Given the description of an element on the screen output the (x, y) to click on. 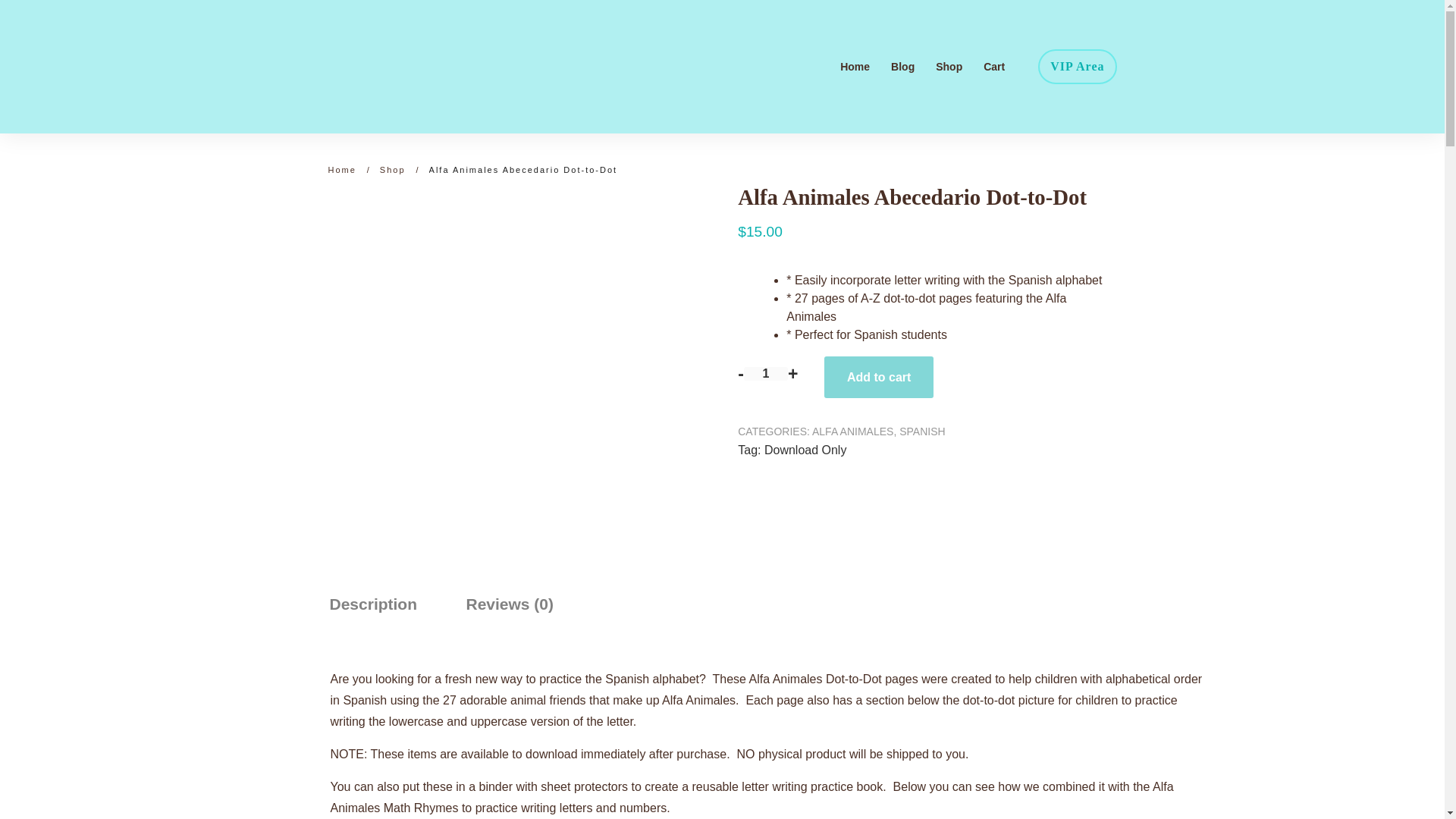
Home (341, 169)
VIP Area (1076, 66)
Description (372, 604)
Cart (994, 66)
Qty (765, 373)
Add to cart (878, 377)
ALFA ANIMALES (852, 431)
1 (765, 373)
Download Only (805, 449)
Shop (393, 169)
